Given the description of an element on the screen output the (x, y) to click on. 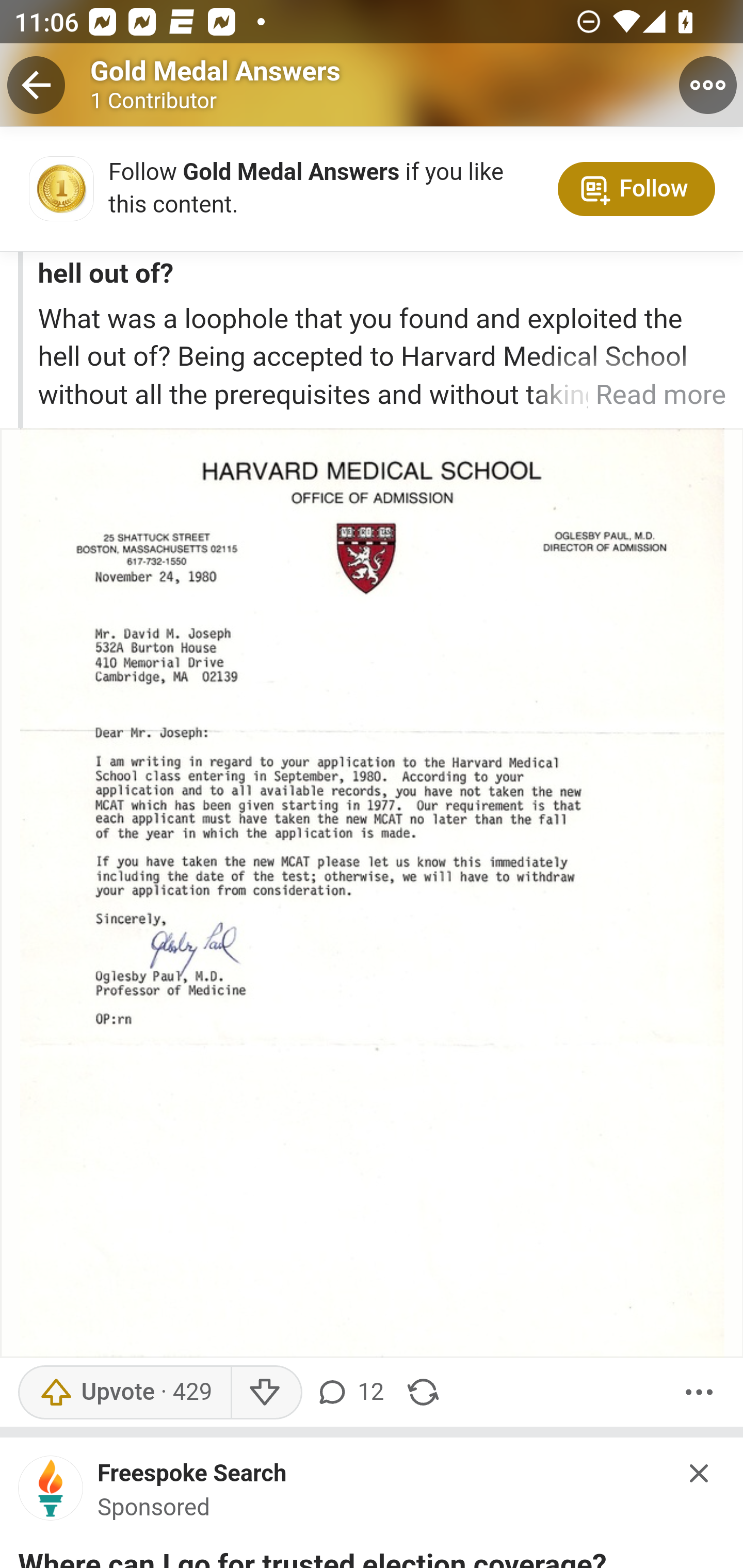
Upvote (124, 1392)
Downvote (266, 1392)
12 comments (352, 1392)
Share (423, 1392)
More (699, 1392)
Hide (699, 1472)
main-qimg-784c0b59c1772b60fd46a882711c92a8 (50, 1493)
Freespoke Search (191, 1475)
